Given the description of an element on the screen output the (x, y) to click on. 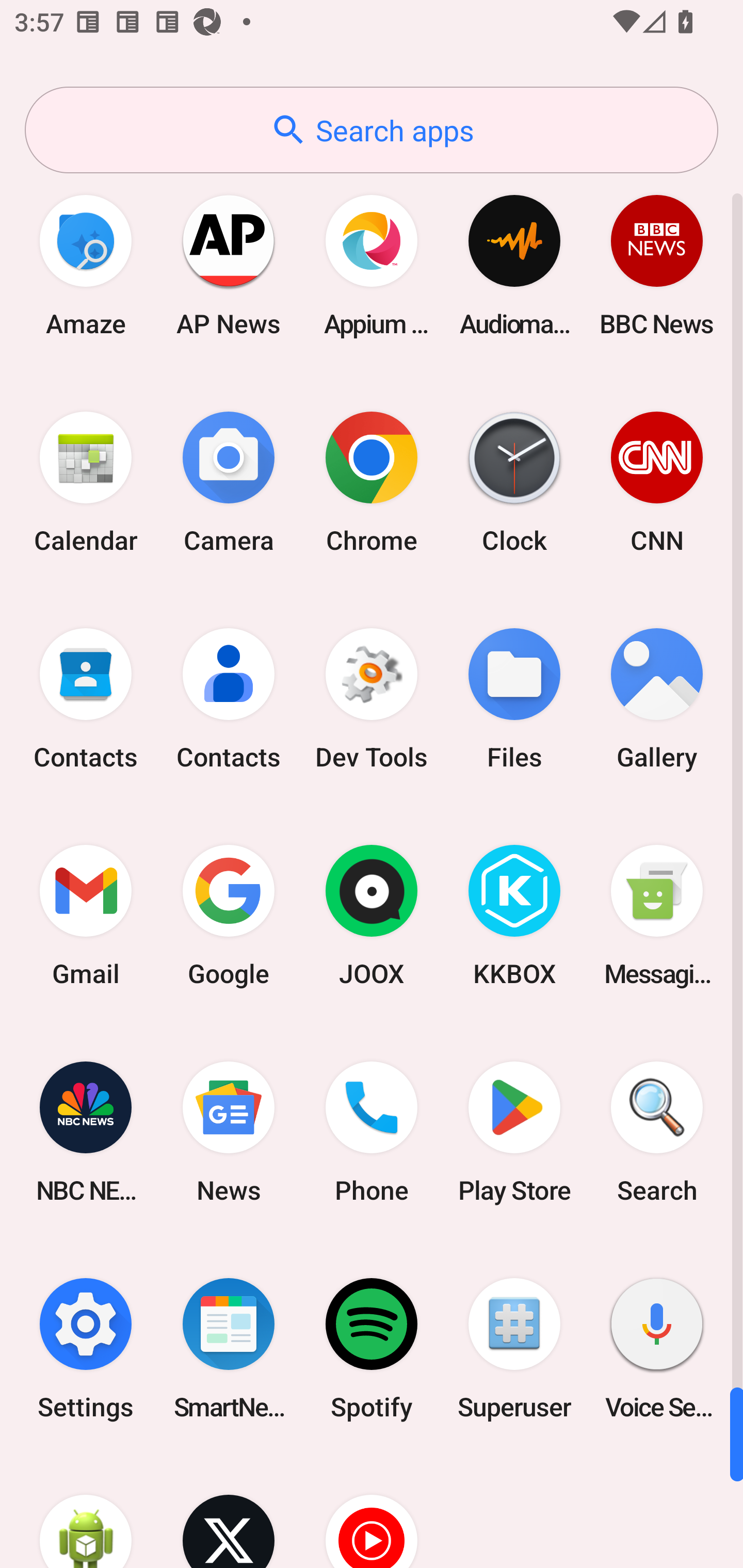
  Search apps (371, 130)
Amaze (85, 264)
AP News (228, 264)
Appium Settings (371, 264)
Audio­mack (514, 264)
BBC News (656, 264)
Calendar (85, 482)
Camera (228, 482)
Chrome (371, 482)
Clock (514, 482)
CNN (656, 482)
Contacts (85, 699)
Contacts (228, 699)
Dev Tools (371, 699)
Files (514, 699)
Gallery (656, 699)
Gmail (85, 915)
Google (228, 915)
JOOX (371, 915)
KKBOX (514, 915)
Messaging (656, 915)
NBC NEWS (85, 1131)
News (228, 1131)
Phone (371, 1131)
Play Store (514, 1131)
Search (656, 1131)
Settings (85, 1348)
SmartNews (228, 1348)
Spotify (371, 1348)
Superuser (514, 1348)
Voice Search (656, 1348)
WebView Browser Tester (85, 1512)
X (228, 1512)
YT Music (371, 1512)
